Given the description of an element on the screen output the (x, y) to click on. 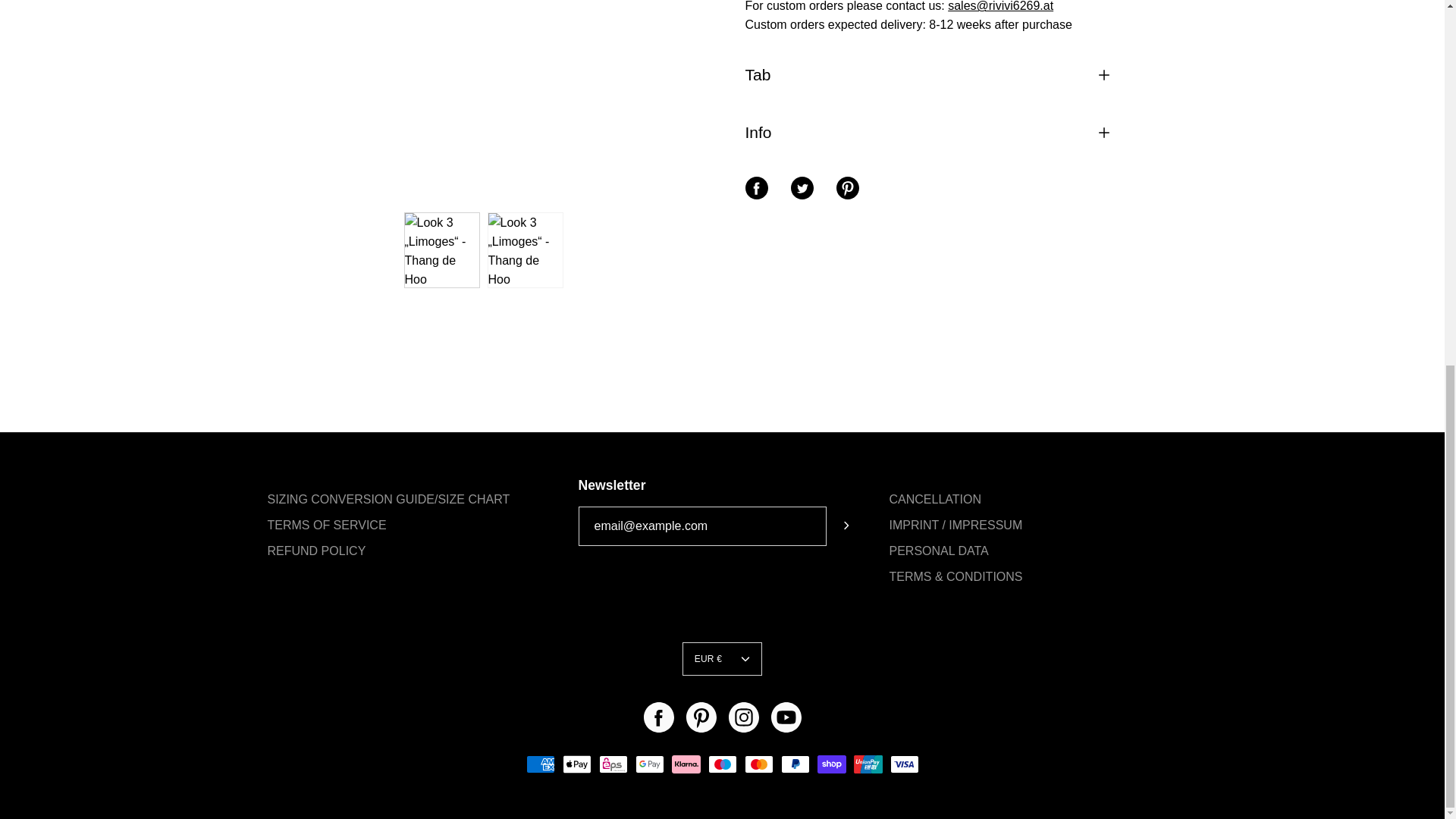
View Thang de Hoo on Youtube (785, 716)
Apple Pay (576, 764)
American Express (539, 764)
Share on Twitter (801, 187)
View Thang de Hoo on Instagram (743, 716)
View Thang de Hoo on Pinterest (700, 716)
Share on Pinterest (847, 187)
Share on Facebook (755, 187)
View Thang de Hoo on Facebook (657, 716)
